Given the description of an element on the screen output the (x, y) to click on. 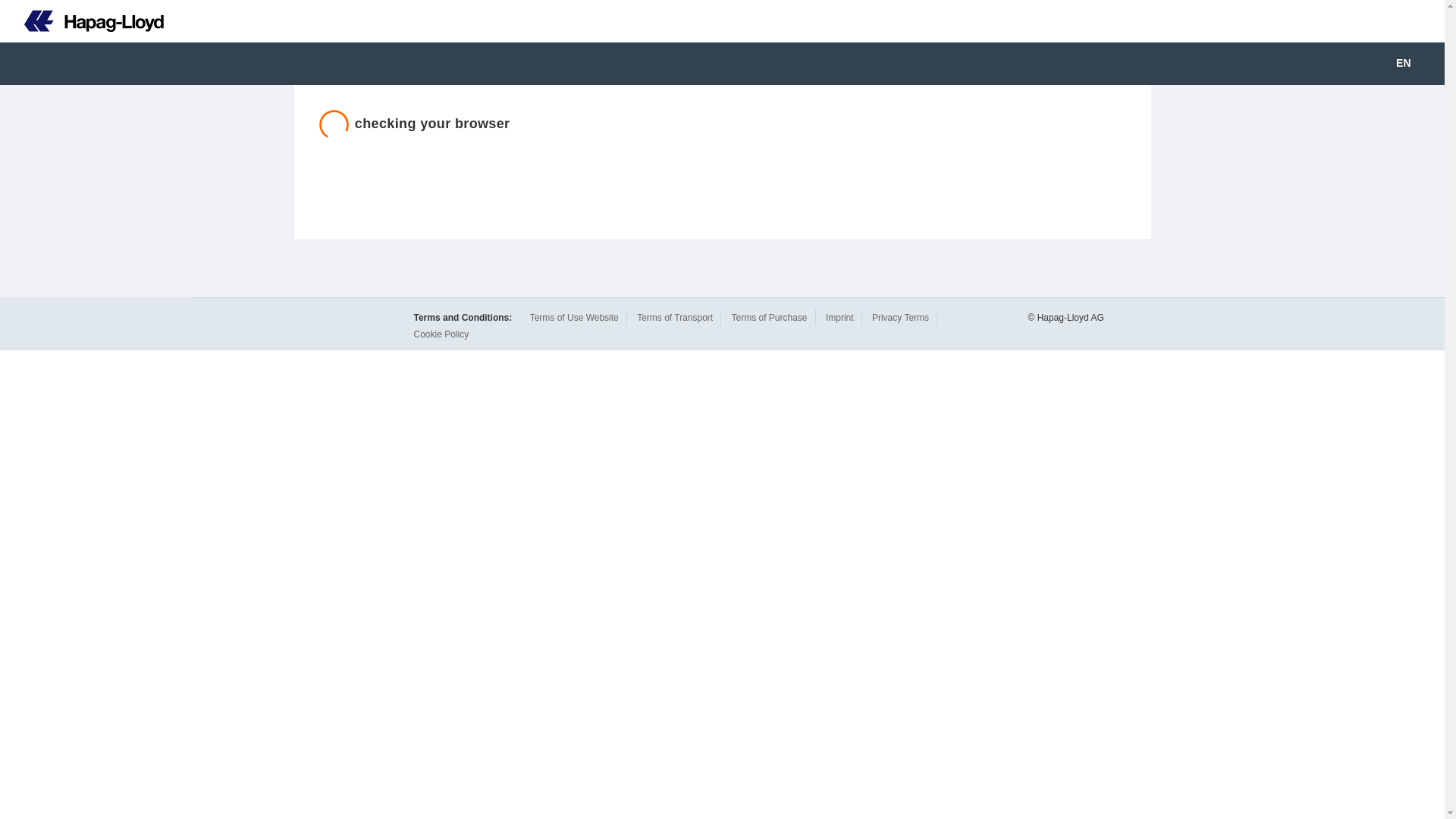
Terms of Use Website (573, 317)
Terms of Purchase (768, 317)
Imprint (839, 317)
Terms of Transport (675, 317)
Hapag-Lloyd Logo (93, 21)
Privacy Terms (900, 317)
Cookie Policy (440, 334)
EN (1414, 63)
Hapag-Lloyd Logo (81, 21)
